Given the description of an element on the screen output the (x, y) to click on. 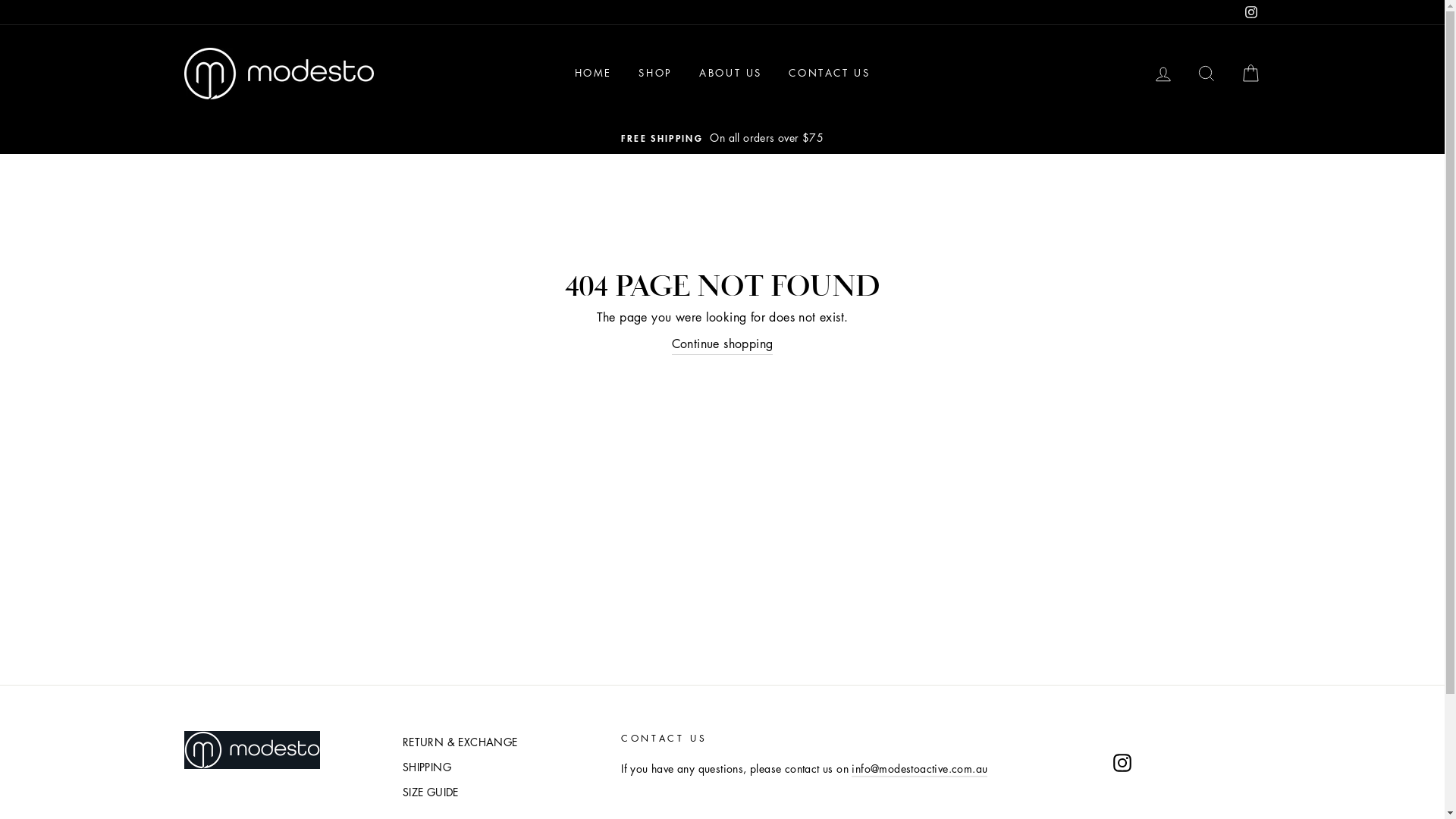
RETURN & EXCHANGE Element type: text (459, 742)
Skip to content Element type: text (0, 0)
SHOP Element type: text (655, 73)
CART Element type: text (1249, 72)
Continue shopping Element type: text (722, 344)
SIZE GUIDE Element type: text (430, 792)
ABOUT US Element type: text (730, 73)
Instagram Element type: text (1122, 762)
HOME Element type: text (593, 73)
SEARCH Element type: text (1206, 72)
LOG IN Element type: text (1163, 72)
info@modestoactive.com.au Element type: text (919, 768)
SHIPPING Element type: text (426, 767)
Instagram Element type: text (1250, 12)
CONTACT US Element type: text (829, 73)
